Given the description of an element on the screen output the (x, y) to click on. 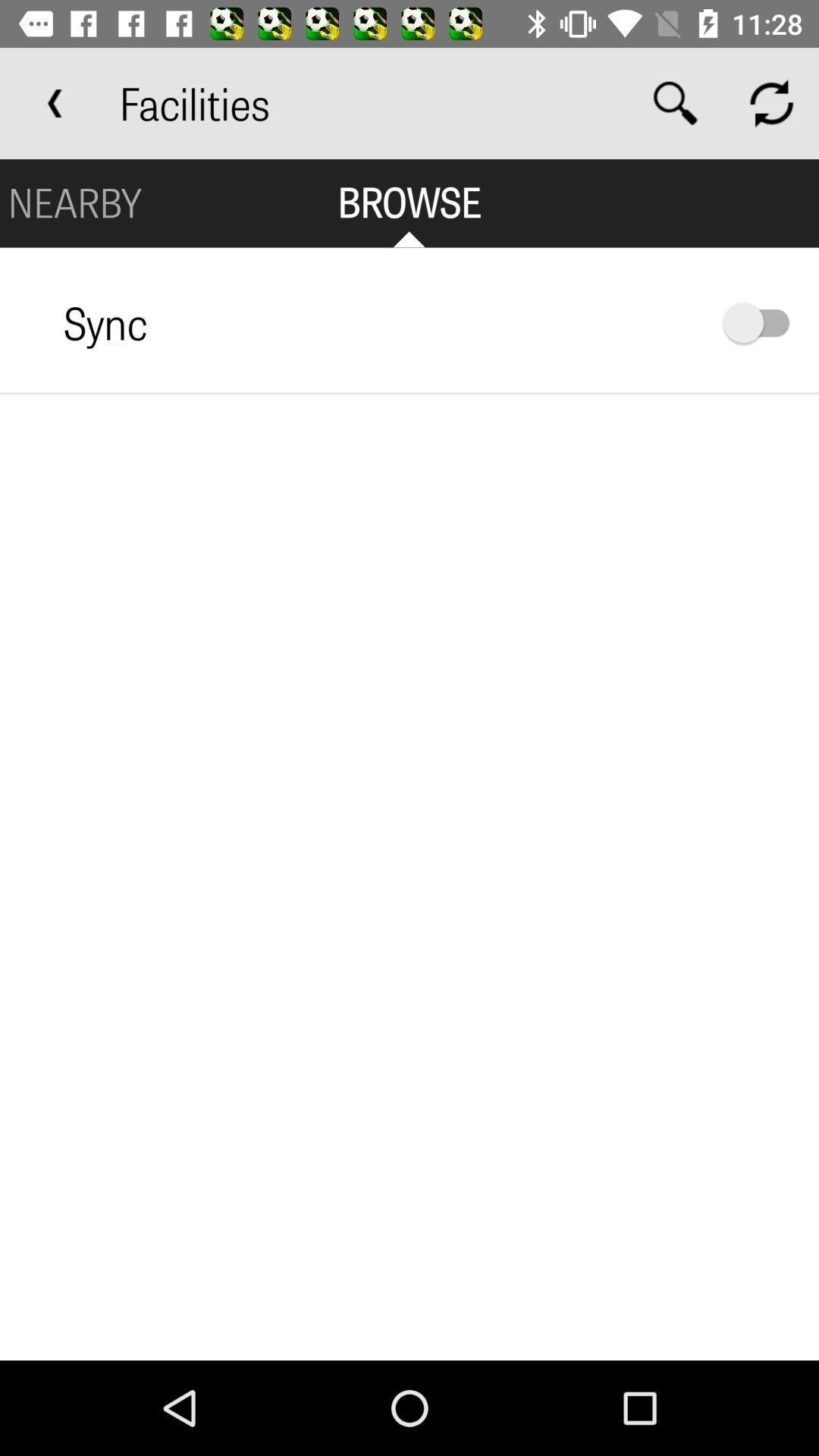
turn on item at the center (409, 877)
